Given the description of an element on the screen output the (x, y) to click on. 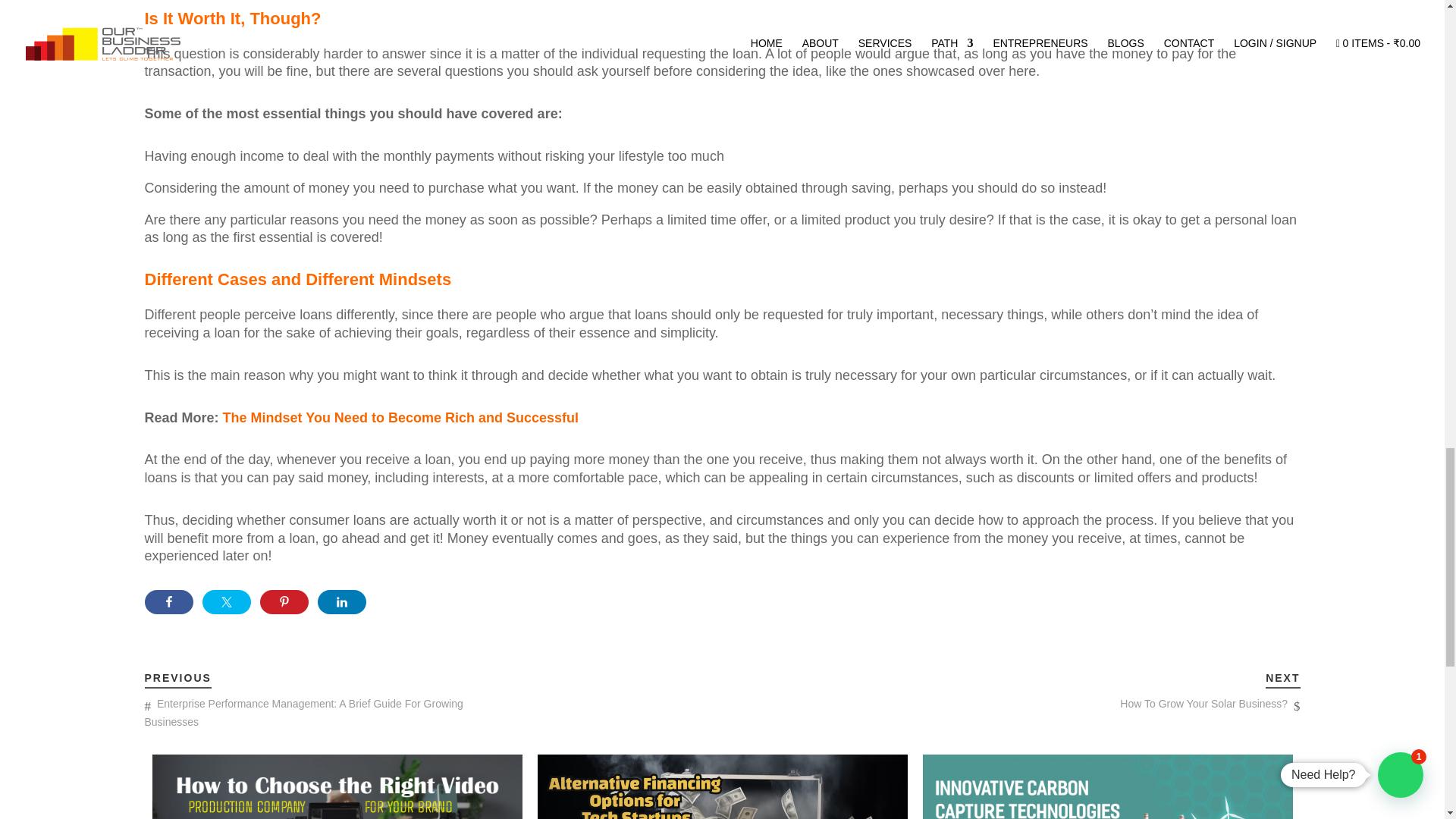
Share on Facebook (168, 601)
Share on LinkedIn (341, 601)
The Mindset You Need to Become Rich and Successful (400, 417)
Share on Twitter (226, 601)
Share on Pinterest (283, 601)
